Given the description of an element on the screen output the (x, y) to click on. 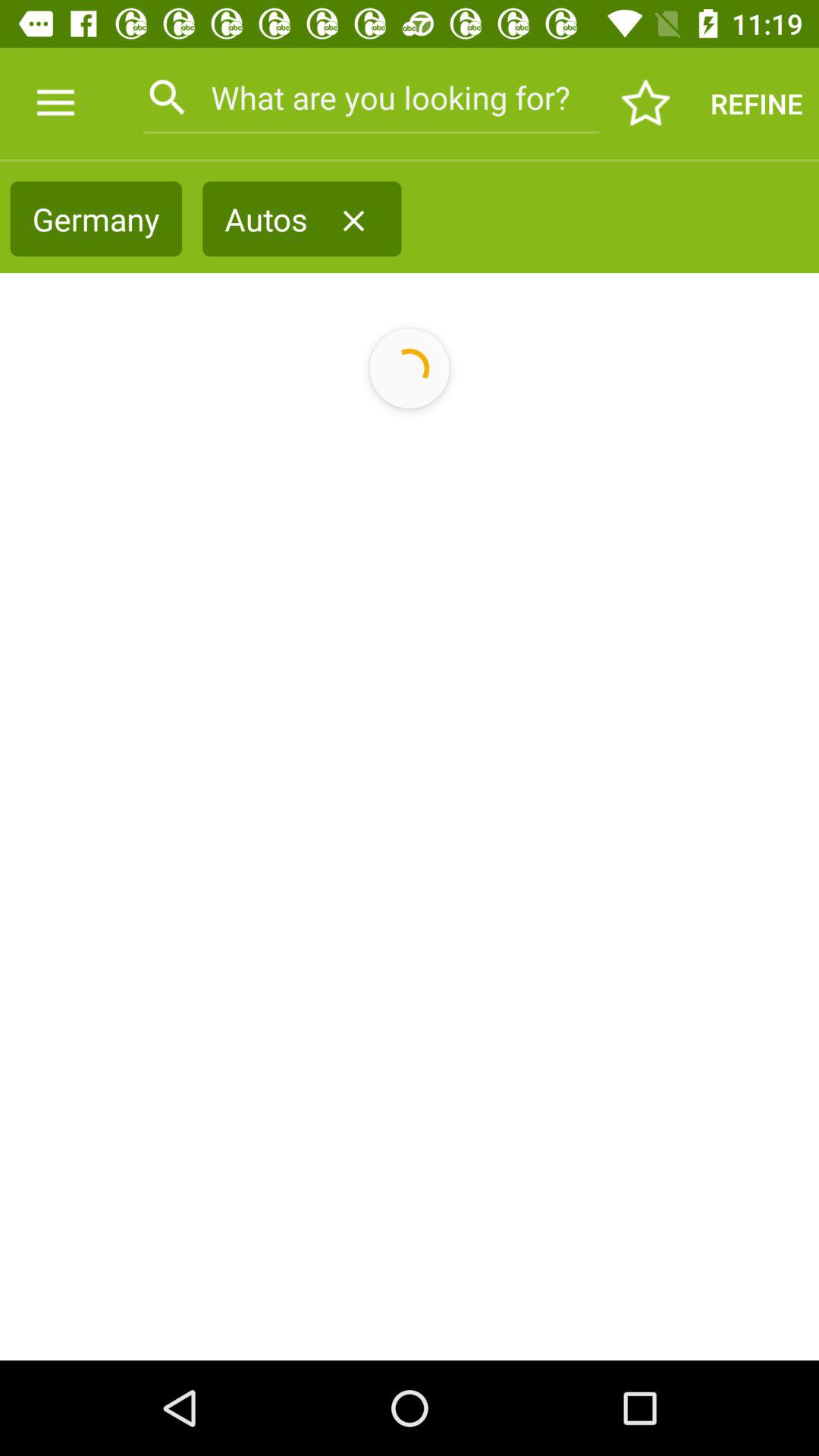
click icon to the right of the what are you icon (646, 103)
